Given the description of an element on the screen output the (x, y) to click on. 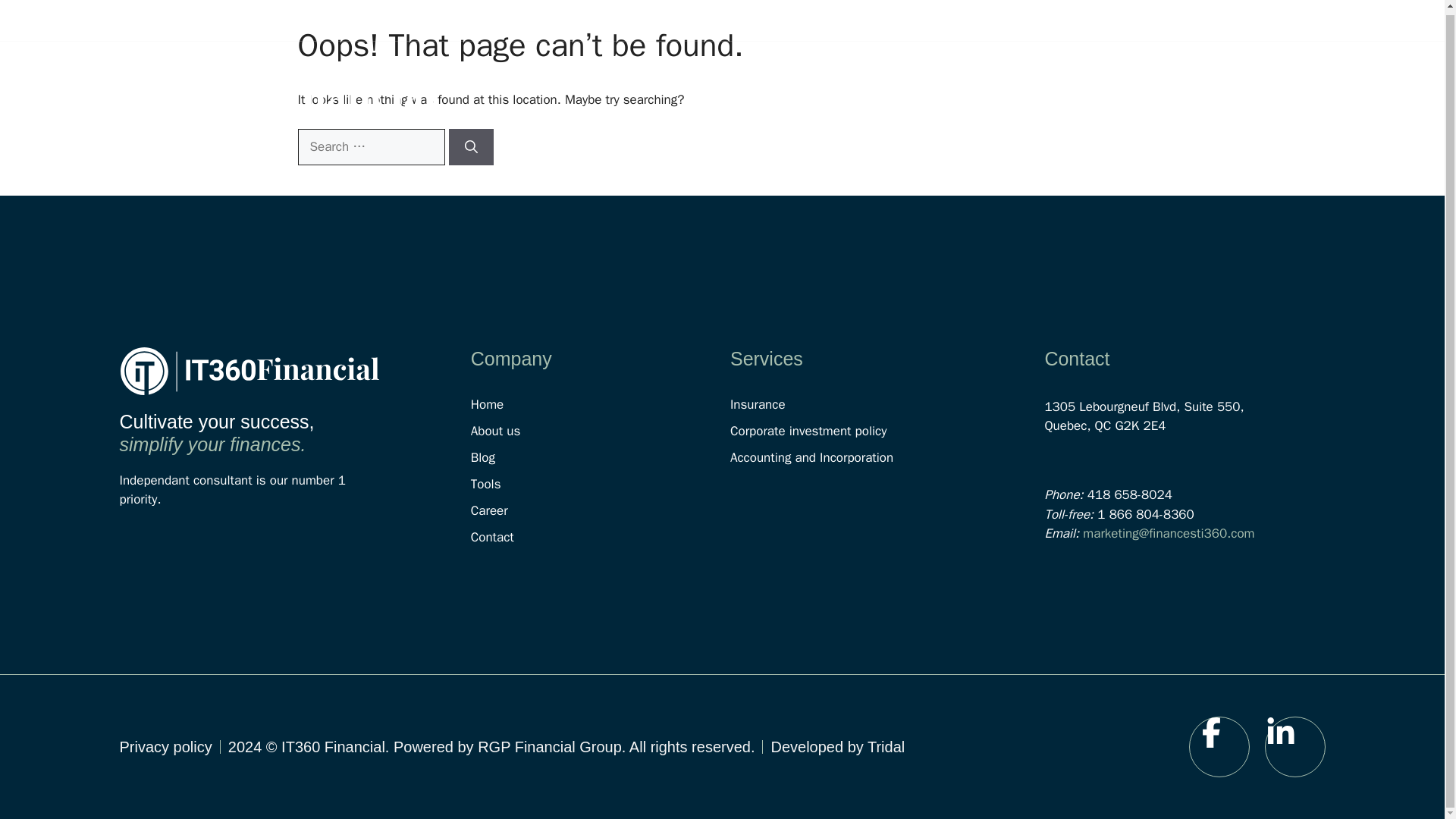
Tools (600, 484)
Career (600, 510)
Home (600, 404)
Contact (600, 537)
Blog (1045, 93)
Phone: 418 658-8024 (1012, 15)
Services (860, 93)
Tools (1116, 93)
Search for: (370, 146)
Career (1195, 93)
